Given the description of an element on the screen output the (x, y) to click on. 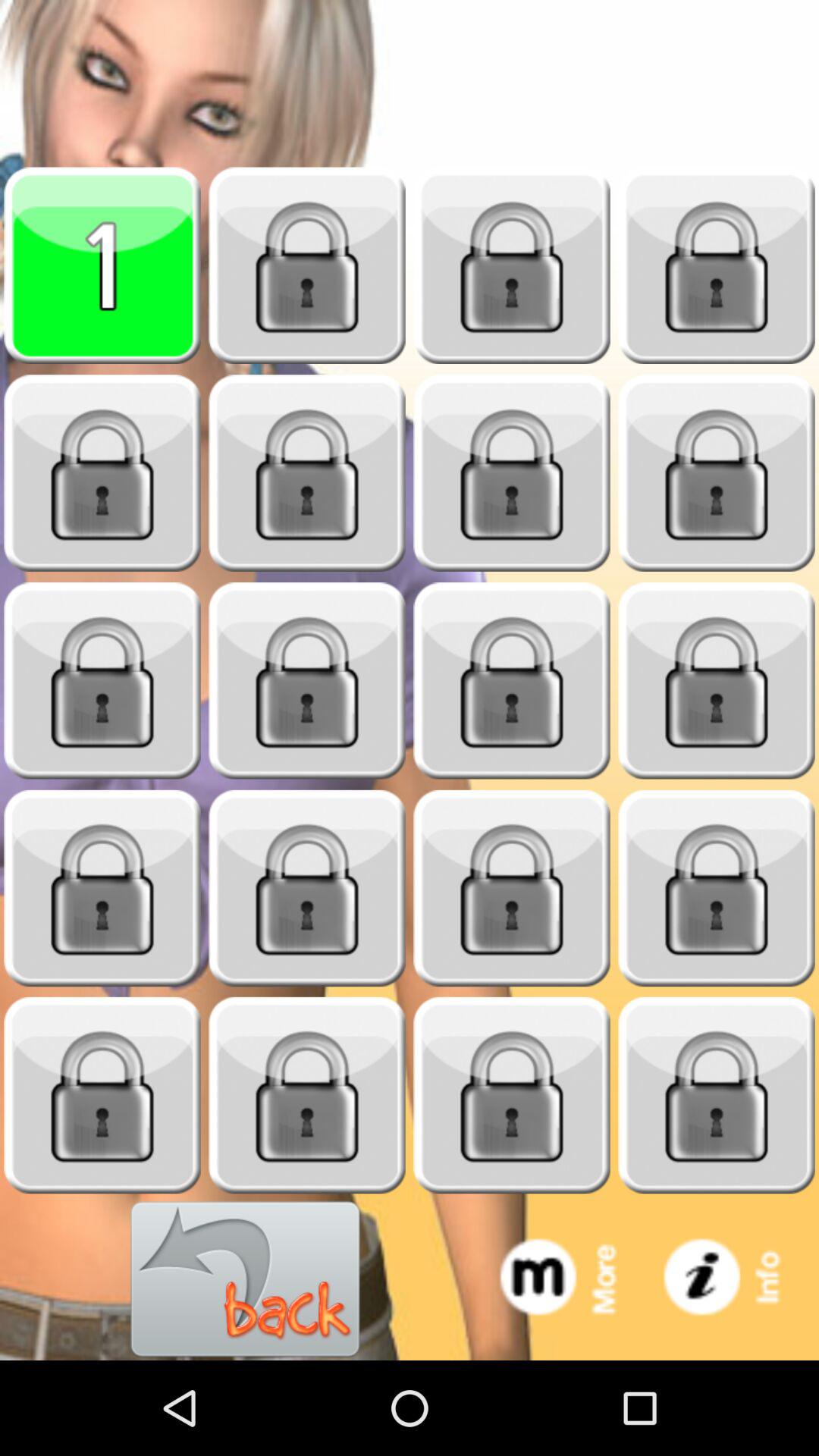
select closed item (306, 1094)
